Given the description of an element on the screen output the (x, y) to click on. 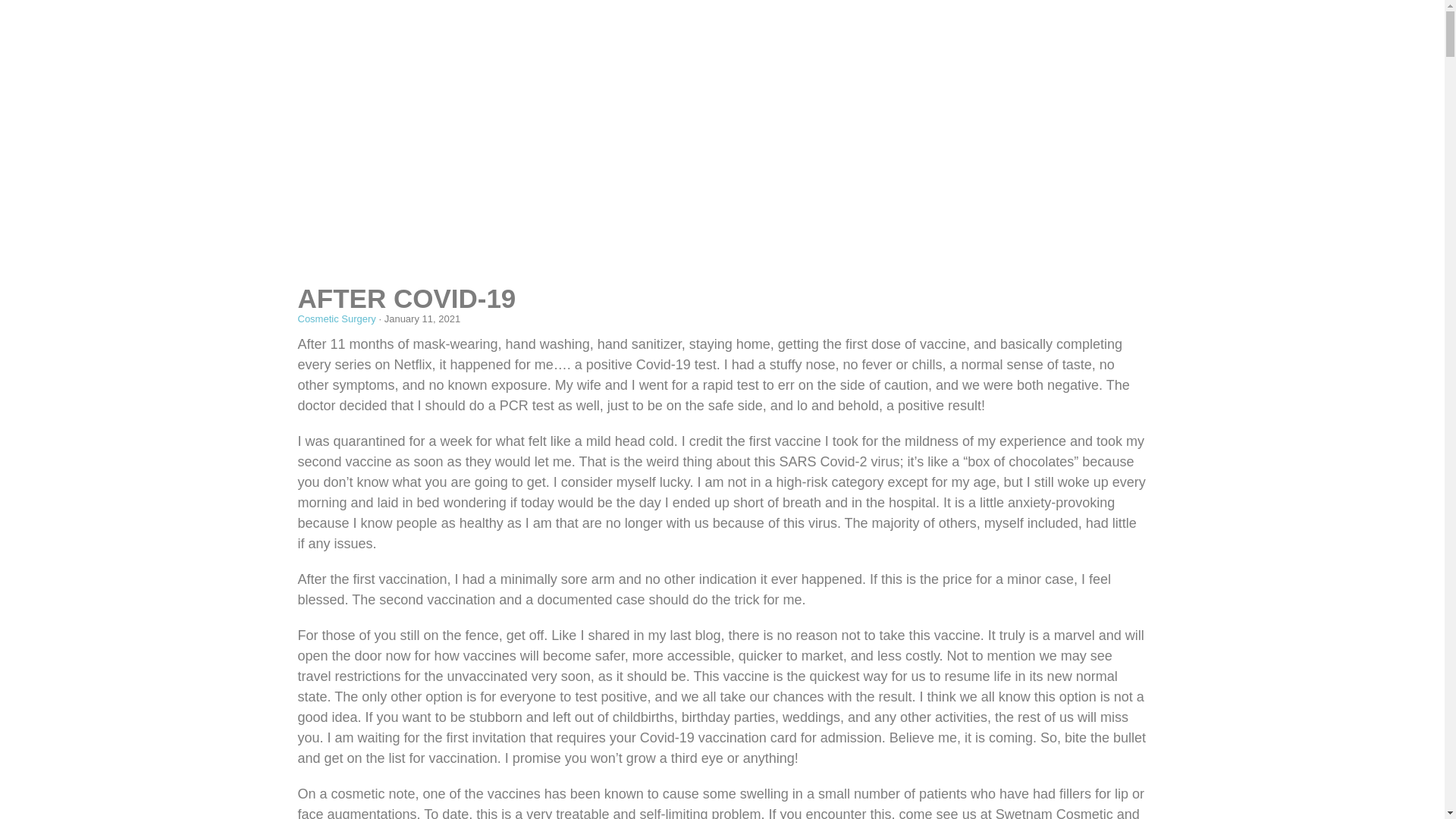
SURGICAL (680, 64)
Spanish (1087, 42)
THE SPA AT SCS (774, 64)
Spanish (1087, 8)
ABOUT (609, 64)
